Given the description of an element on the screen output the (x, y) to click on. 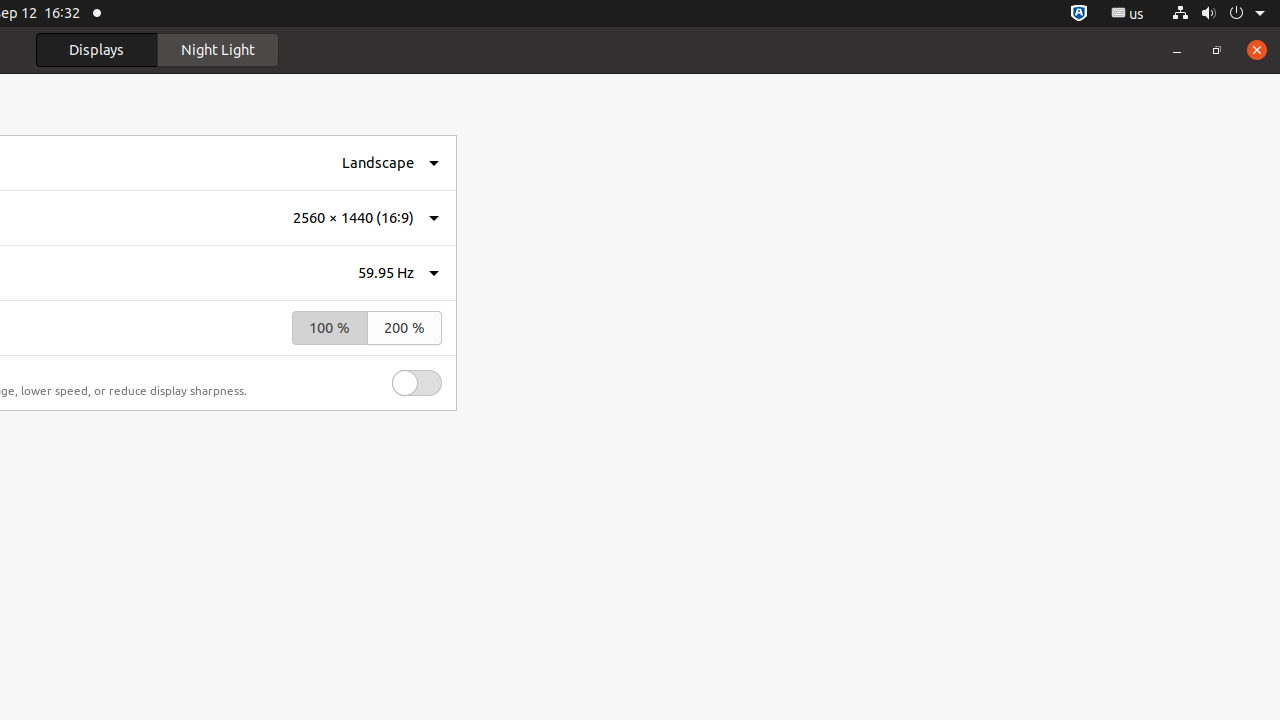
Close Element type: push-button (1257, 50)
